Given the description of an element on the screen output the (x, y) to click on. 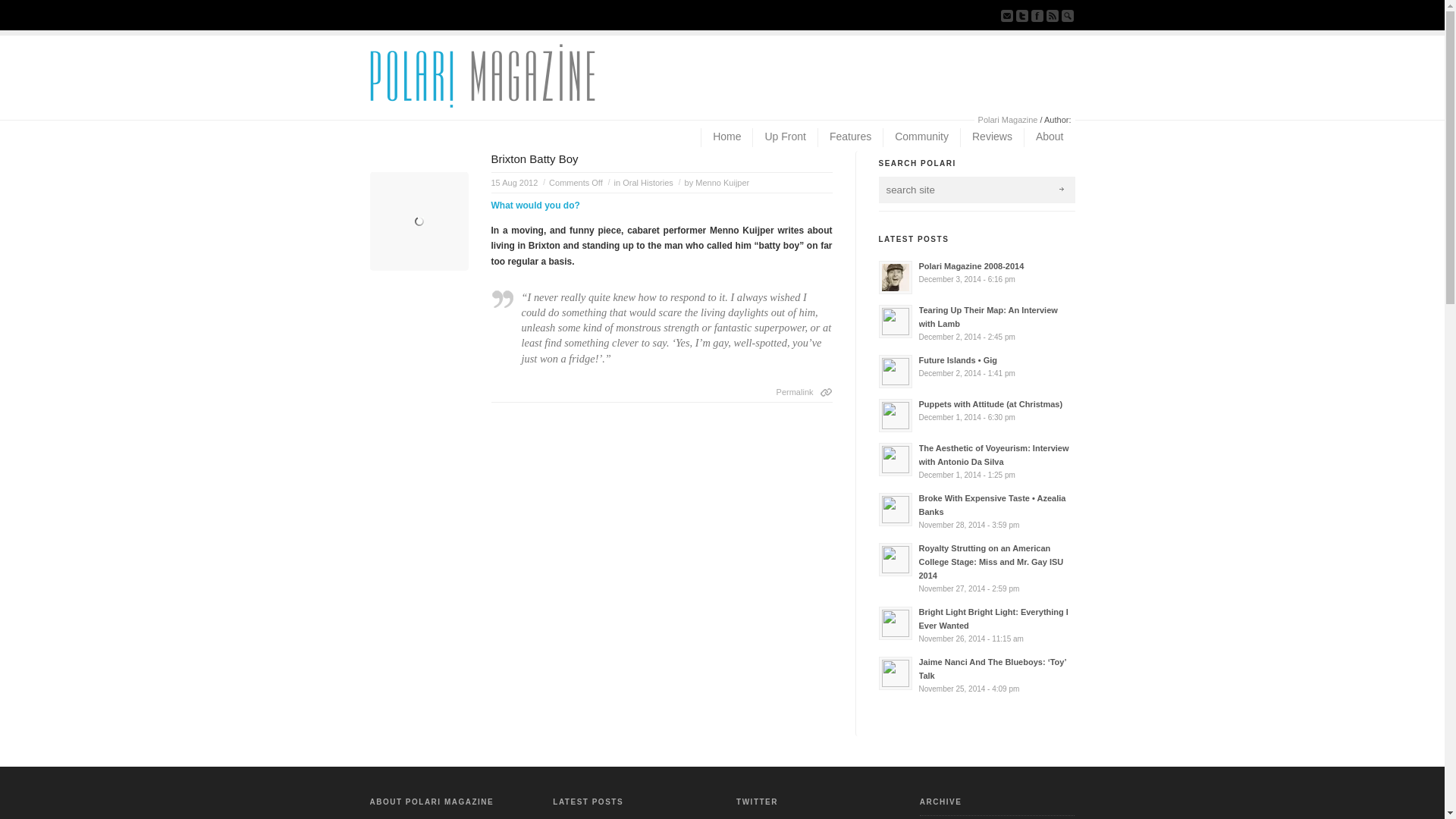
search site (960, 189)
Follow us on Twitter (1021, 15)
Permanent Link: Brixton Batty Boy (662, 392)
Ken (894, 277)
Reviews (991, 137)
The Aesthetic of Voyeurism: Interview with Antonio Da Silva (975, 460)
Search Site (1067, 15)
Future-Islands (894, 370)
Subscribe to our RSS Feed (1052, 15)
Join our Facebook Group (1037, 15)
